Given the description of an element on the screen output the (x, y) to click on. 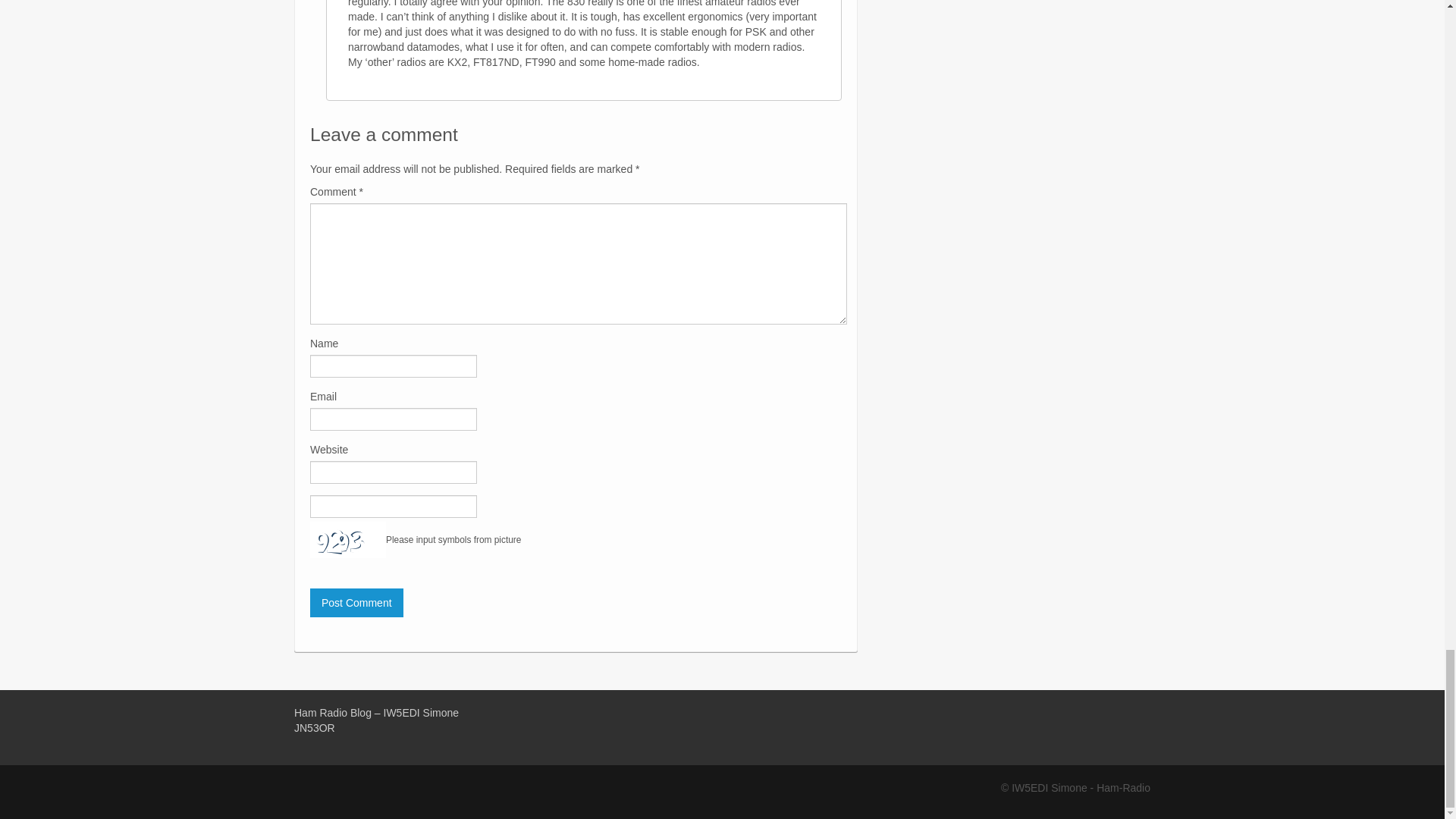
Post Comment (356, 602)
